Given the description of an element on the screen output the (x, y) to click on. 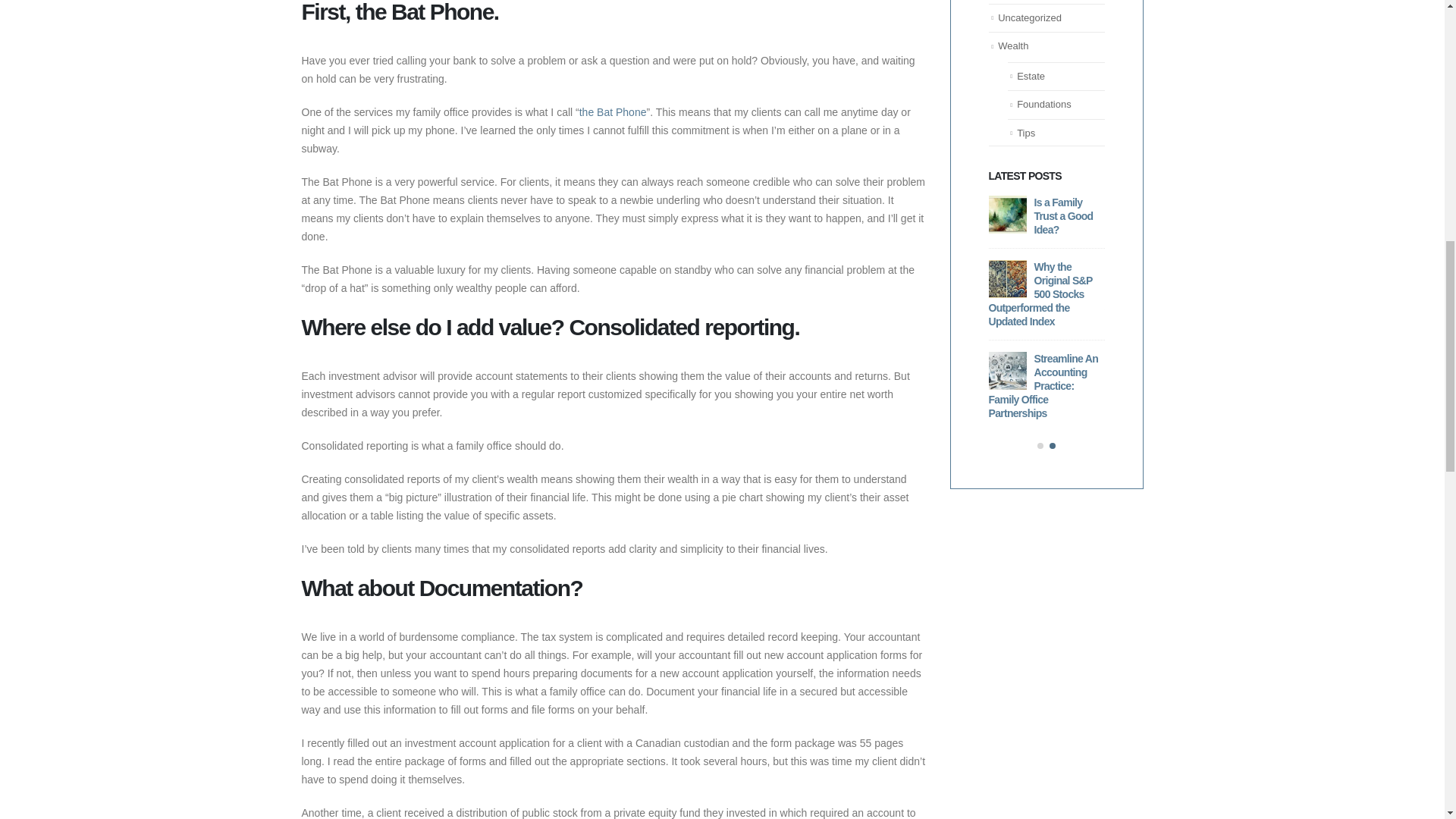
the Bat Phone (612, 111)
